Given the description of an element on the screen output the (x, y) to click on. 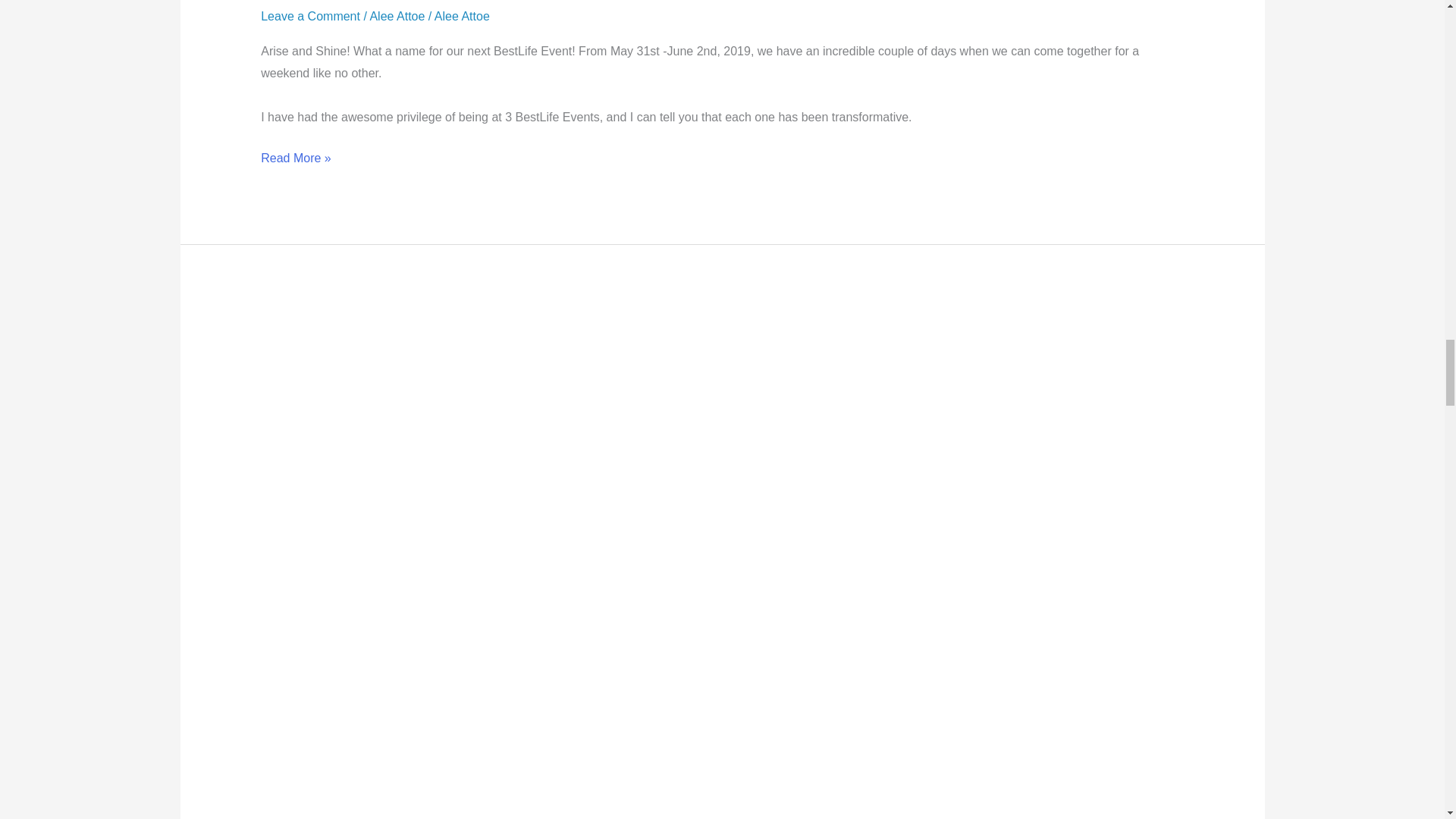
Alee Attoe (461, 15)
Alee Attoe (397, 15)
View all posts by Alee Attoe (461, 15)
Leave a Comment (309, 15)
